Given the description of an element on the screen output the (x, y) to click on. 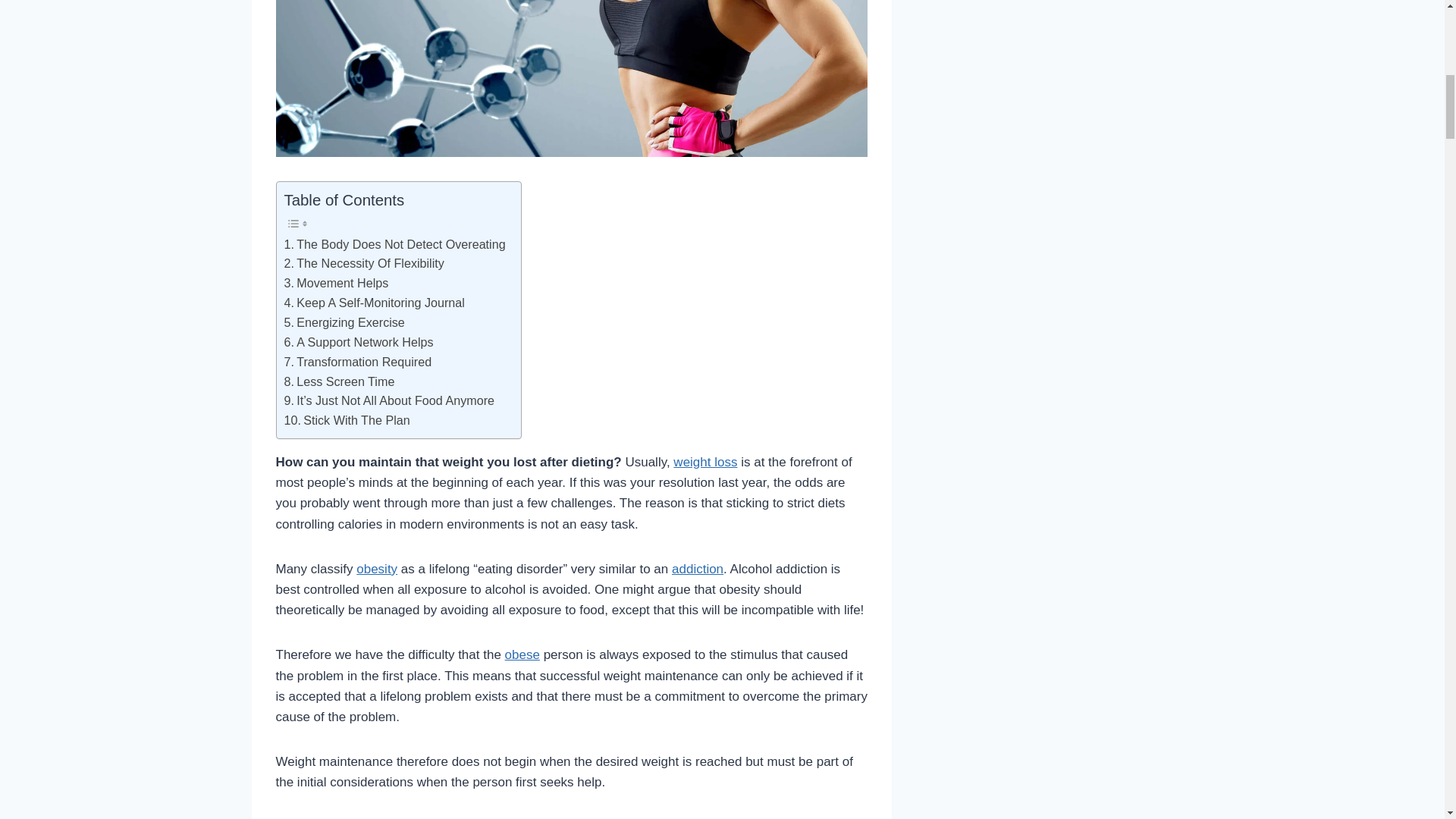
The Body Does Not Detect Overeating (394, 244)
Less Screen Time (338, 382)
obese (522, 654)
addiction (697, 568)
obesity (376, 568)
Stick With The Plan (346, 420)
weight loss (704, 462)
Why Is it Hard To Maintain Weight Loss? 1 (571, 78)
The Necessity Of Flexibility (363, 263)
Energizing Exercise (343, 322)
Energizing Exercise (343, 322)
Keep A Self-Monitoring Journal (373, 302)
Movement Helps (335, 283)
Movement Helps (335, 283)
A Support Network Helps (357, 342)
